Given the description of an element on the screen output the (x, y) to click on. 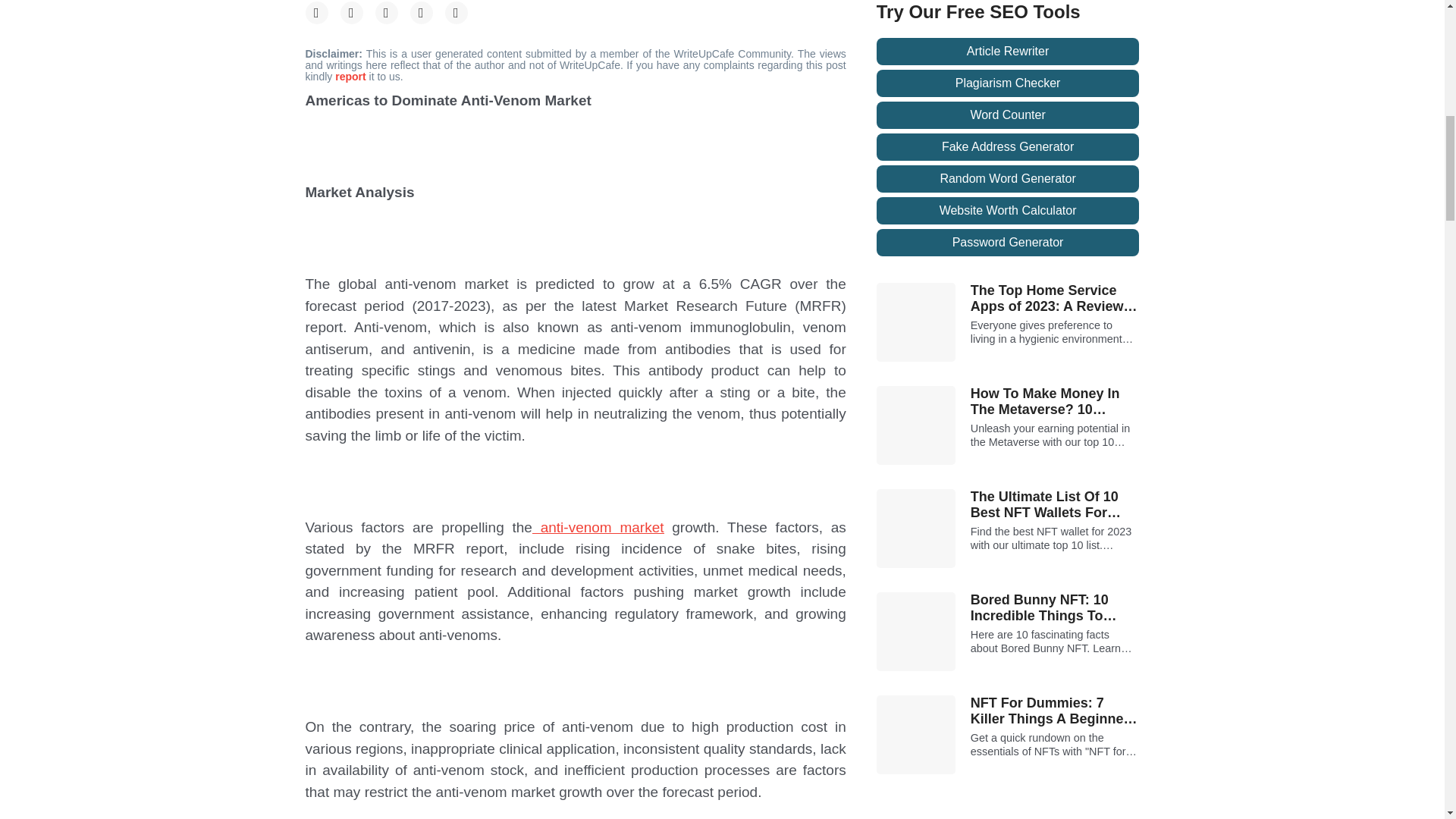
Password Generator (1008, 242)
report (351, 76)
Word Counter (1008, 114)
Fake Address Generator (1008, 146)
Random Word Generator (1008, 178)
Website Worth Calculator (1008, 210)
Plagiarism Checker (1008, 83)
The Top Home Service Apps of 2023: A Review and Comparison (1055, 298)
